Given the description of an element on the screen output the (x, y) to click on. 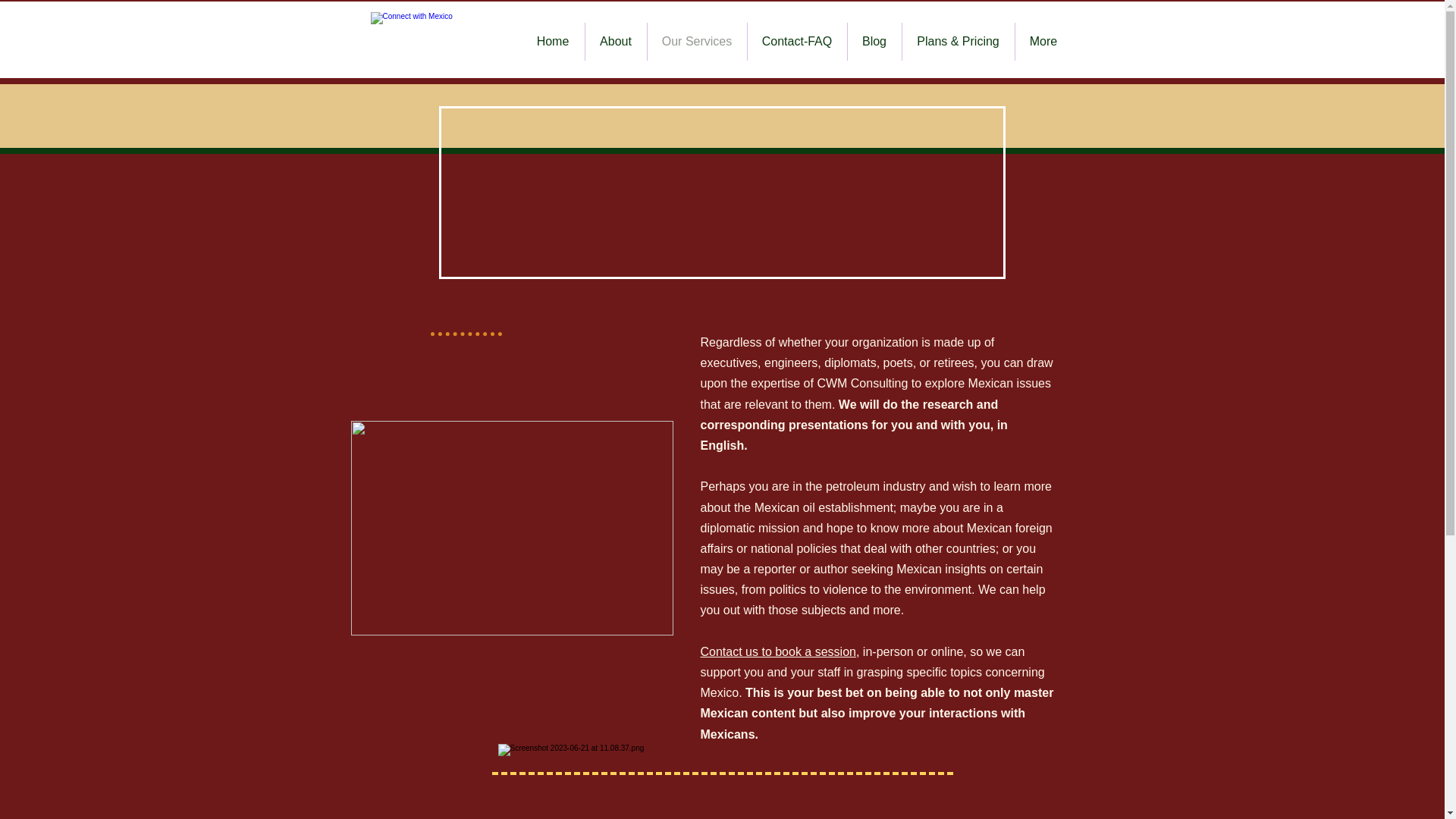
Connect with Mexico (429, 48)
Blog (874, 41)
Contact-FAQ (797, 41)
About (615, 41)
Contact us to book a session (778, 651)
Home (553, 41)
Our Services (696, 41)
